Given the description of an element on the screen output the (x, y) to click on. 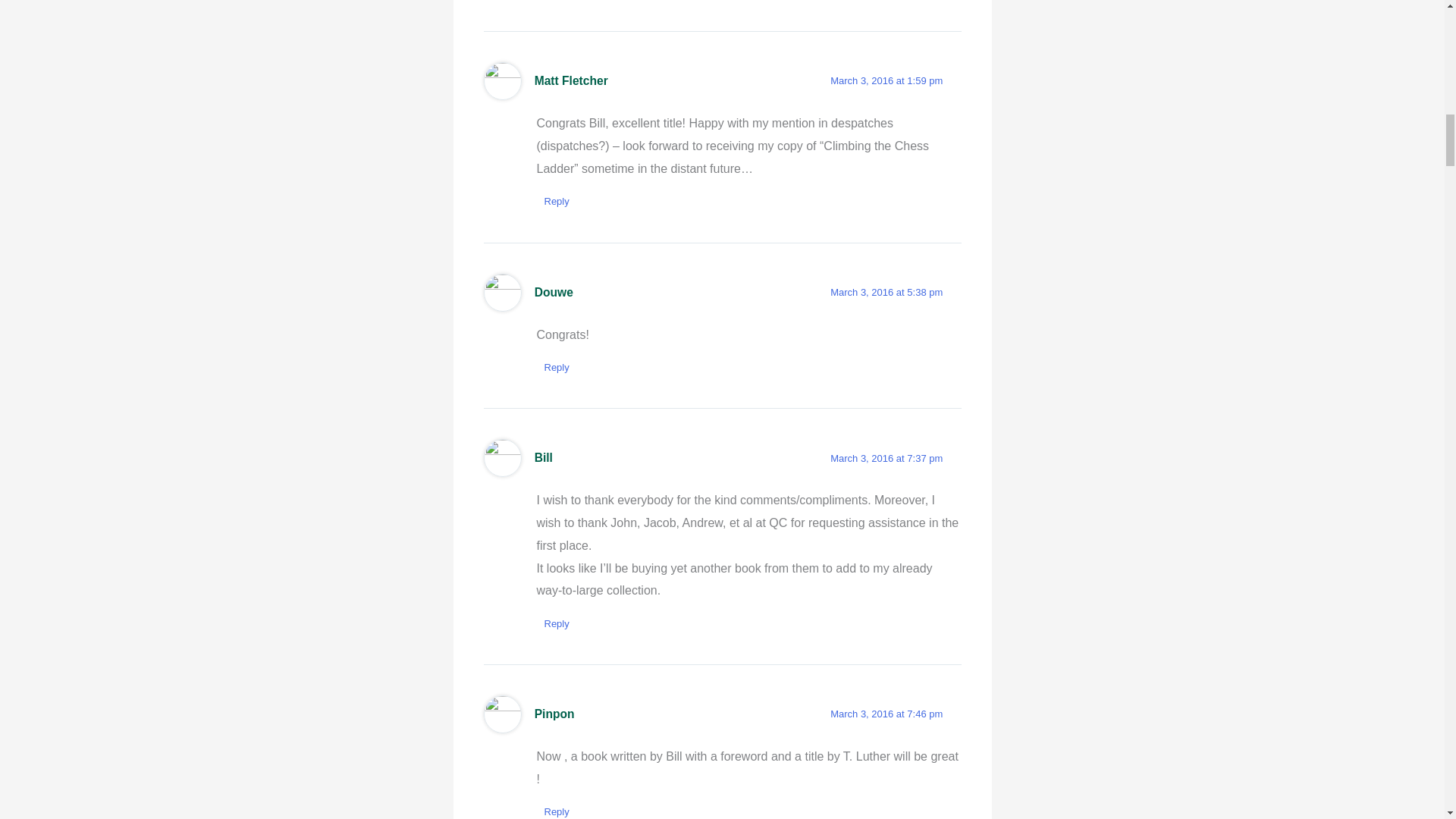
March 3, 2016 at 5:38 pm (885, 292)
Reply (556, 367)
Reply (556, 623)
March 3, 2016 at 7:46 pm (885, 713)
Reply (556, 201)
March 3, 2016 at 1:59 pm (885, 80)
March 3, 2016 at 7:37 pm (885, 458)
